Given the description of an element on the screen output the (x, y) to click on. 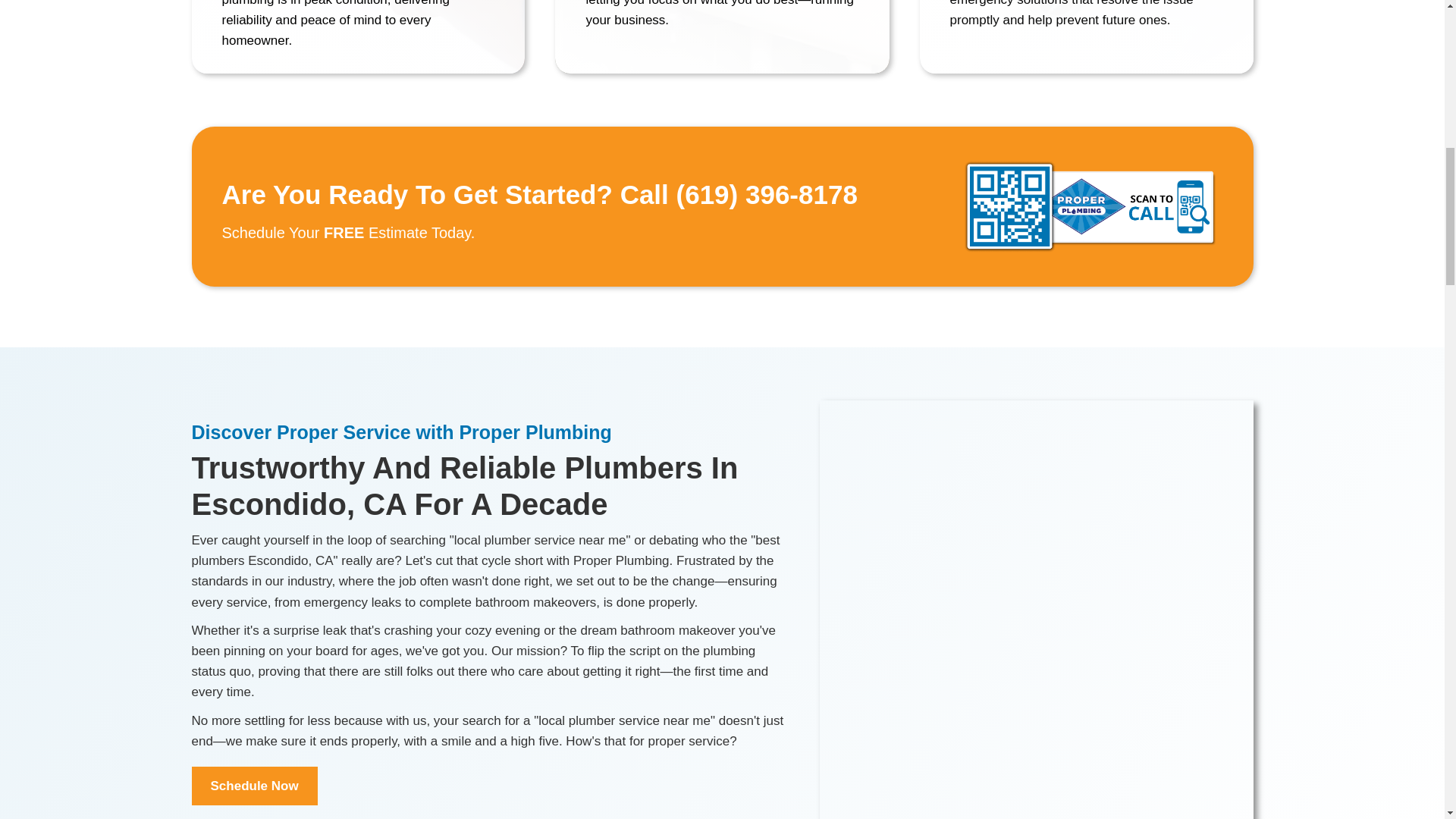
c (1091, 206)
Schedule Now (253, 785)
